Given the description of an element on the screen output the (x, y) to click on. 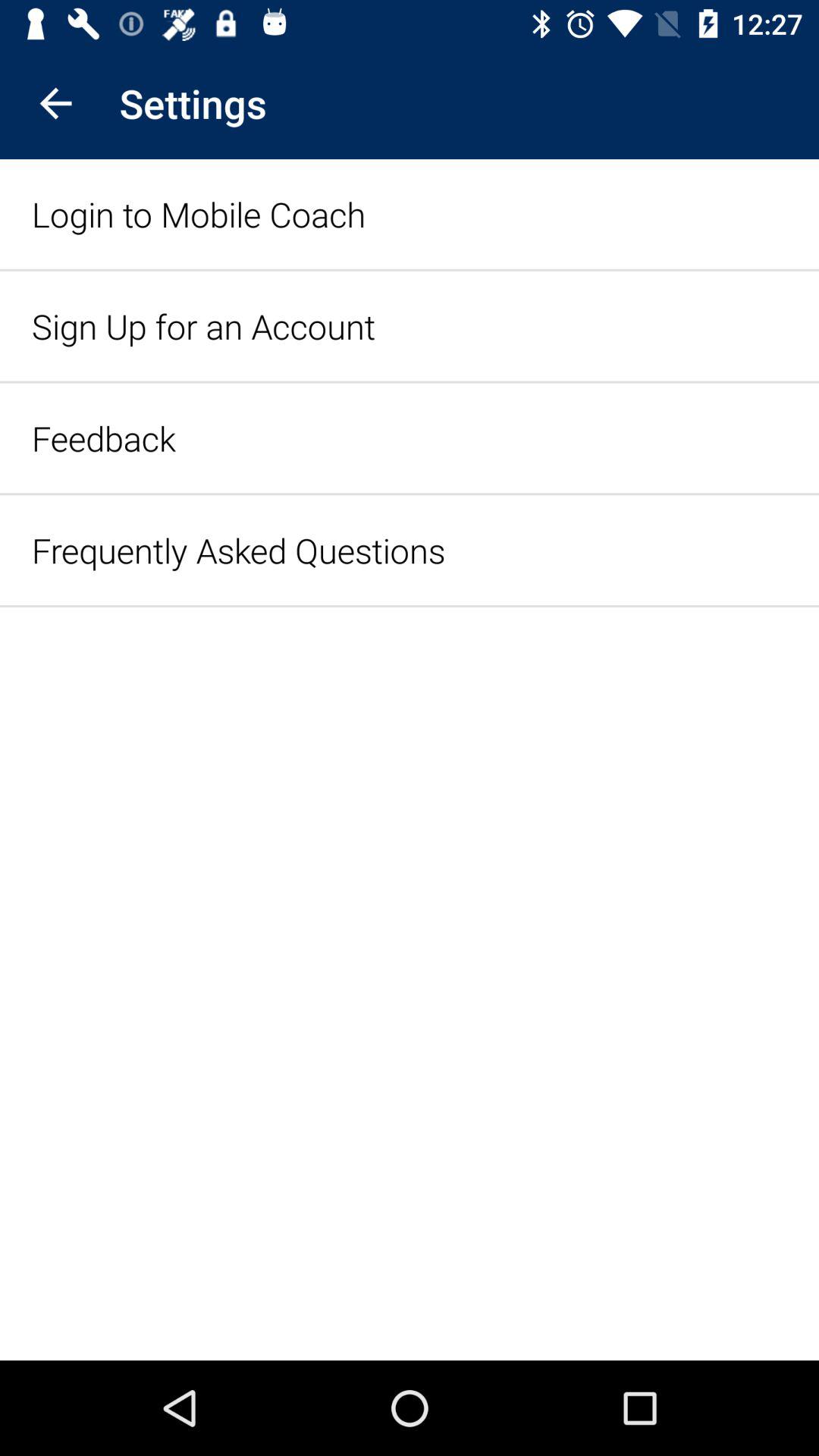
turn off icon next to the settings app (55, 103)
